Given the description of an element on the screen output the (x, y) to click on. 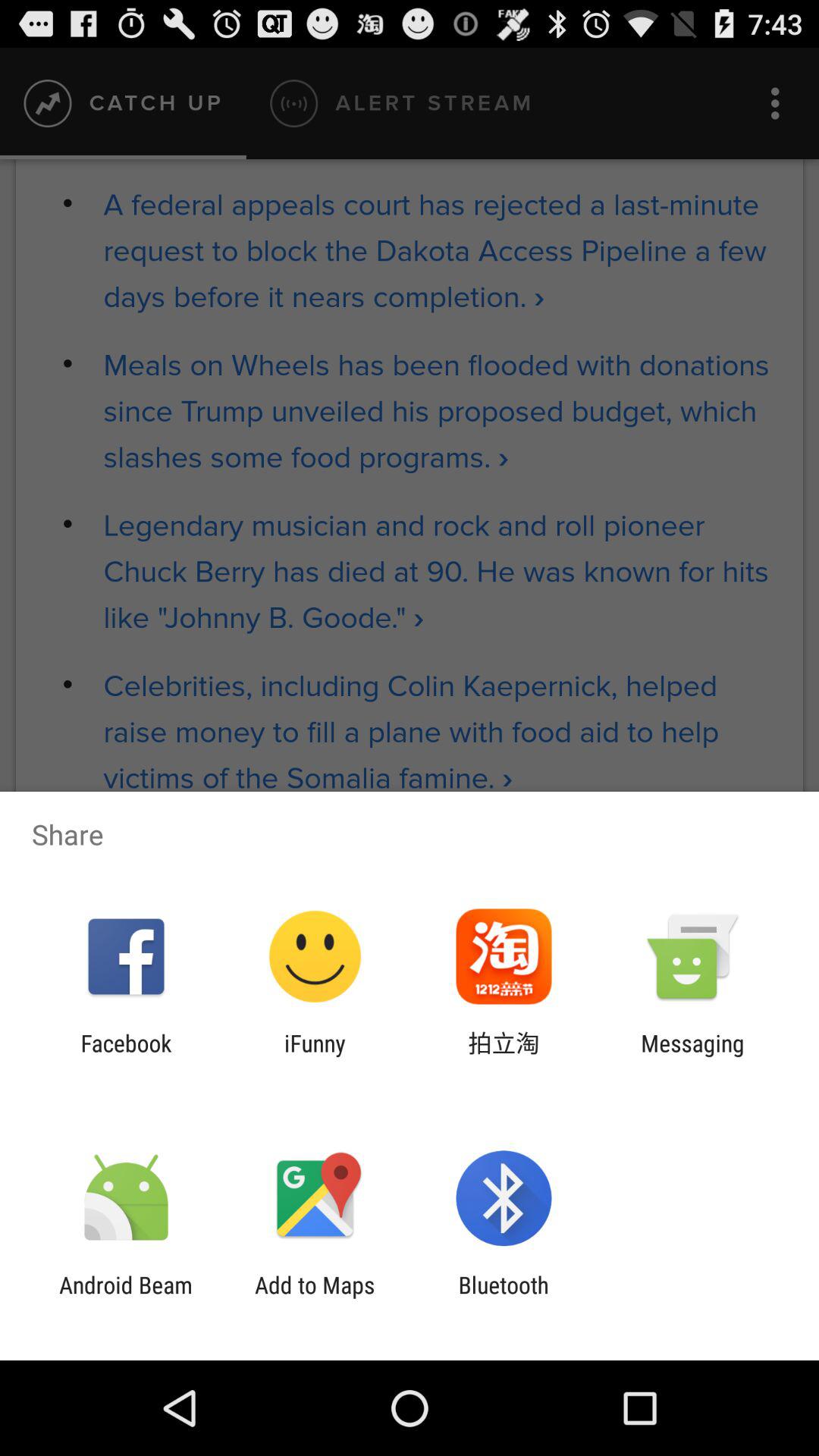
select the app next to the add to maps item (503, 1298)
